Given the description of an element on the screen output the (x, y) to click on. 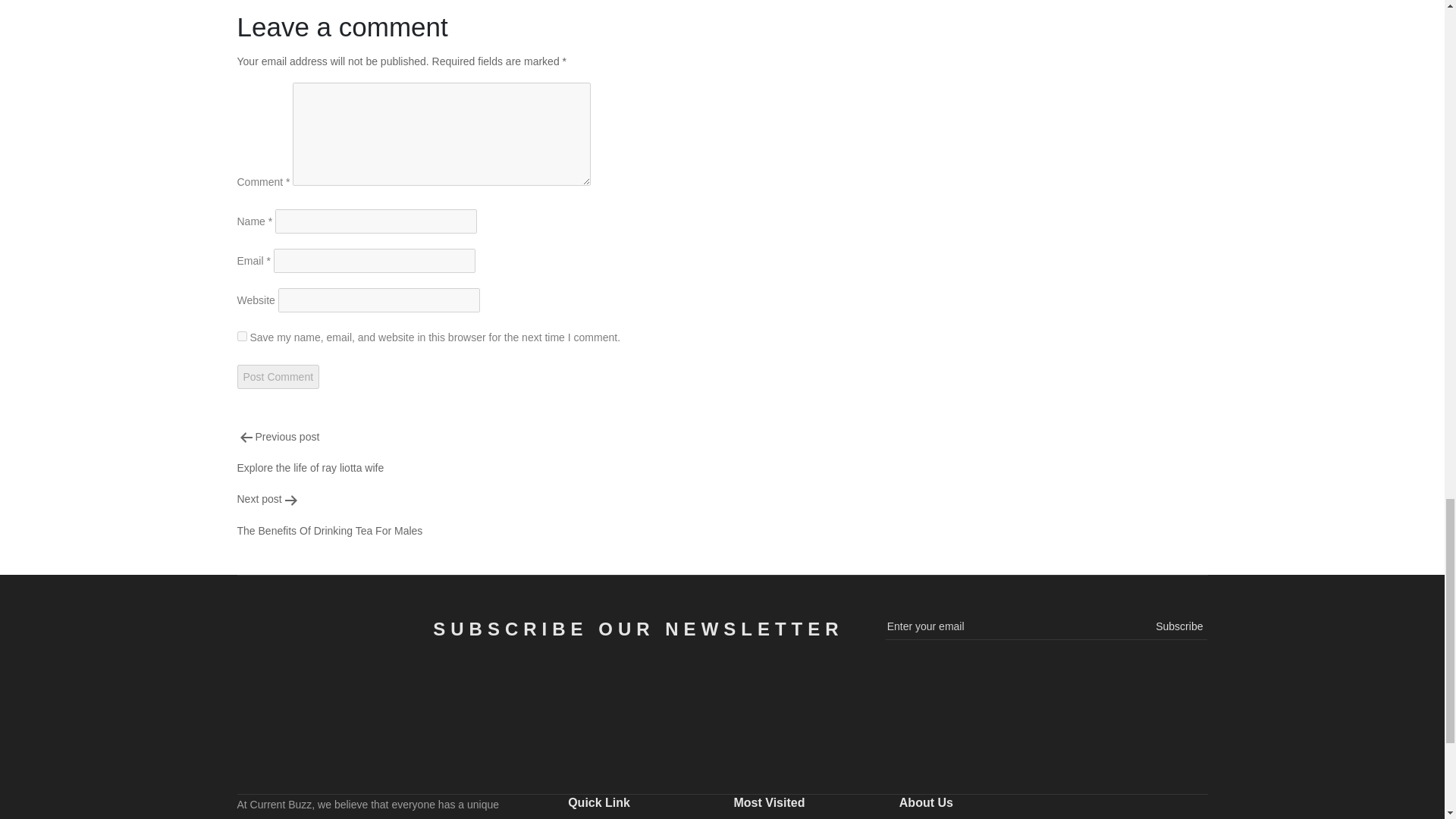
Post Comment (276, 376)
yes (240, 336)
Post Comment (555, 513)
